Given the description of an element on the screen output the (x, y) to click on. 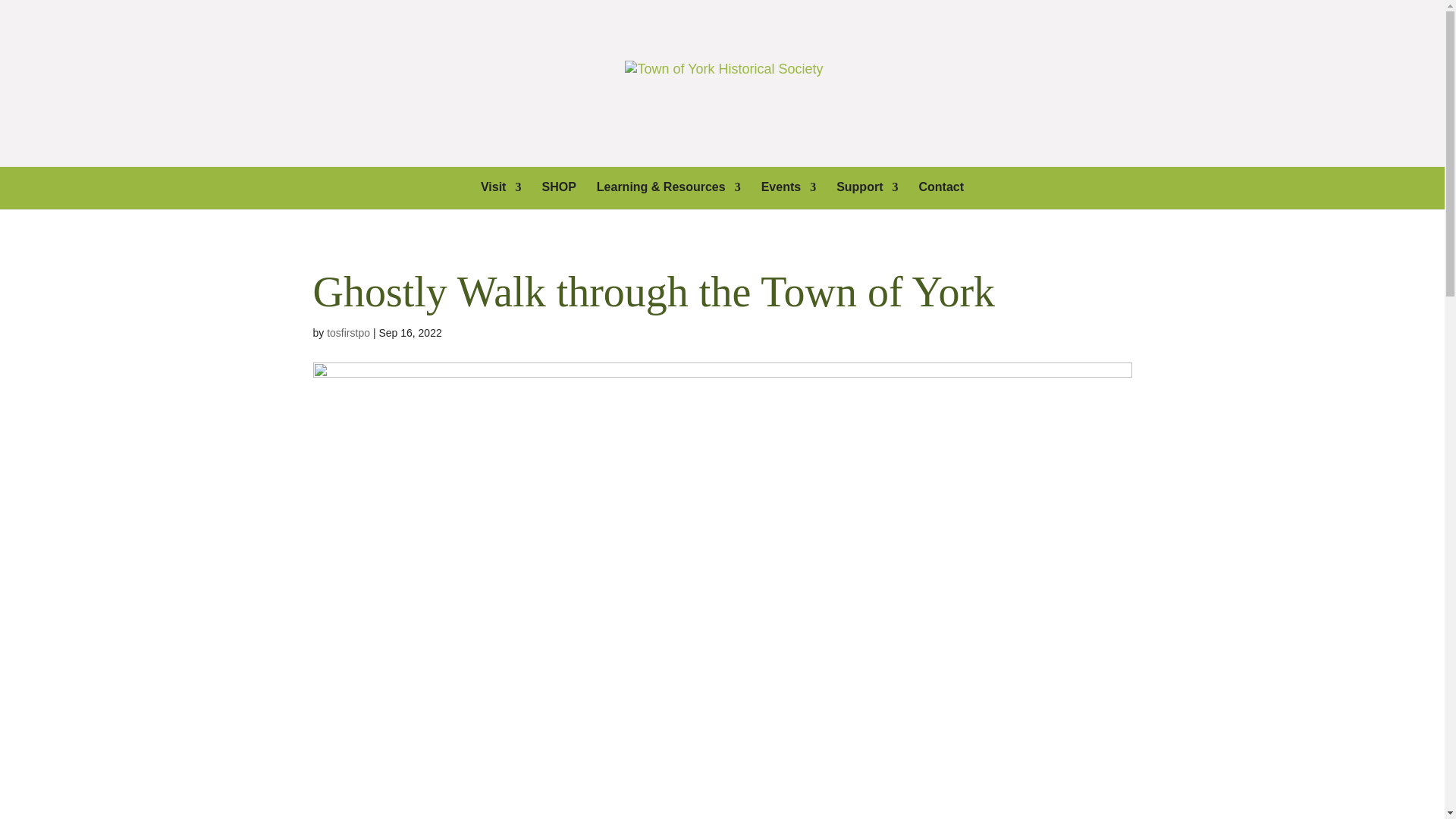
Posts by tosfirstpo (347, 332)
Contact (940, 195)
tosfirstpo (347, 332)
SHOP (558, 195)
Support (866, 195)
Events (788, 195)
Visit (500, 195)
